Given the description of an element on the screen output the (x, y) to click on. 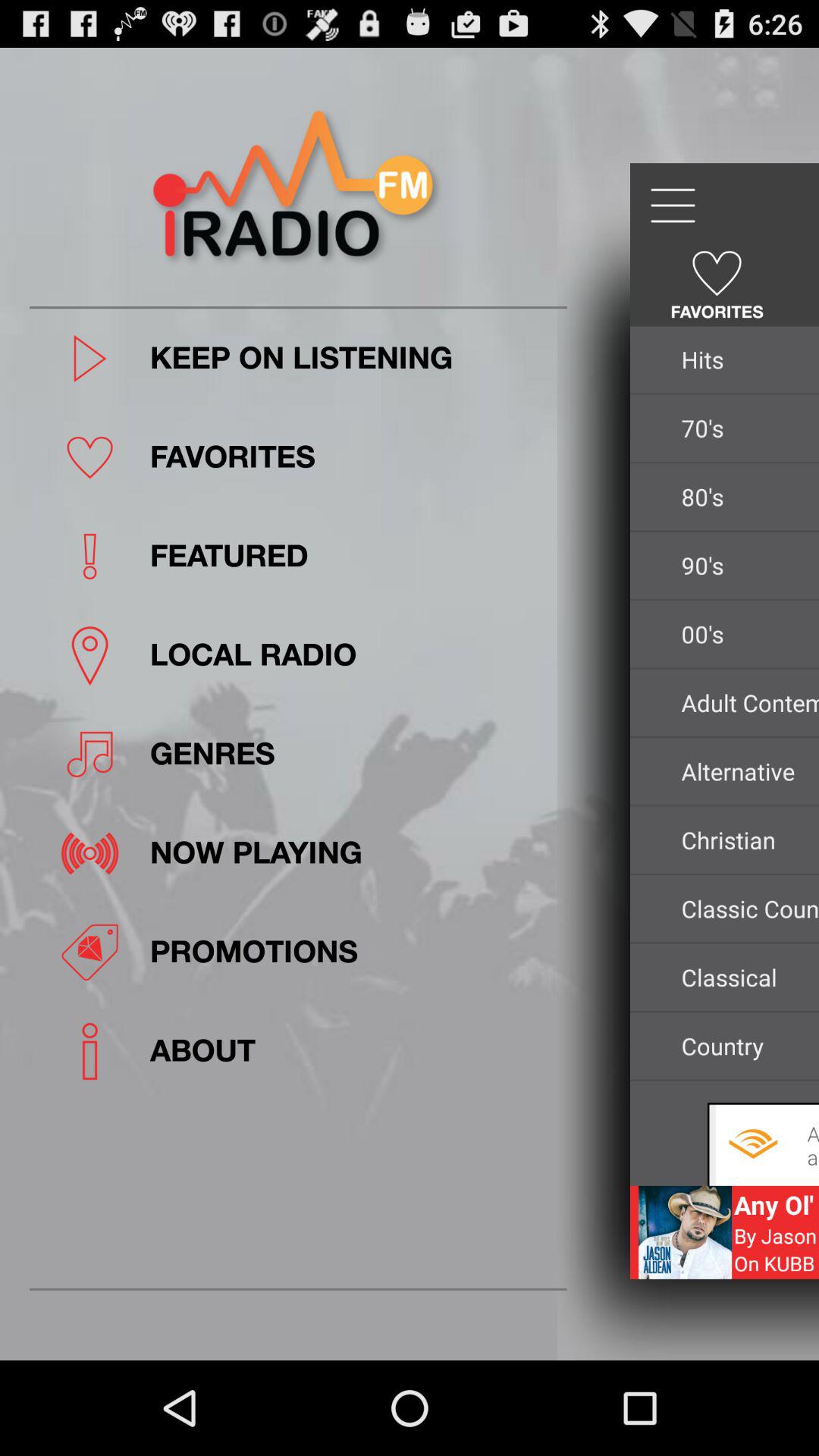
launch icon below the 00's app (745, 702)
